Given the description of an element on the screen output the (x, y) to click on. 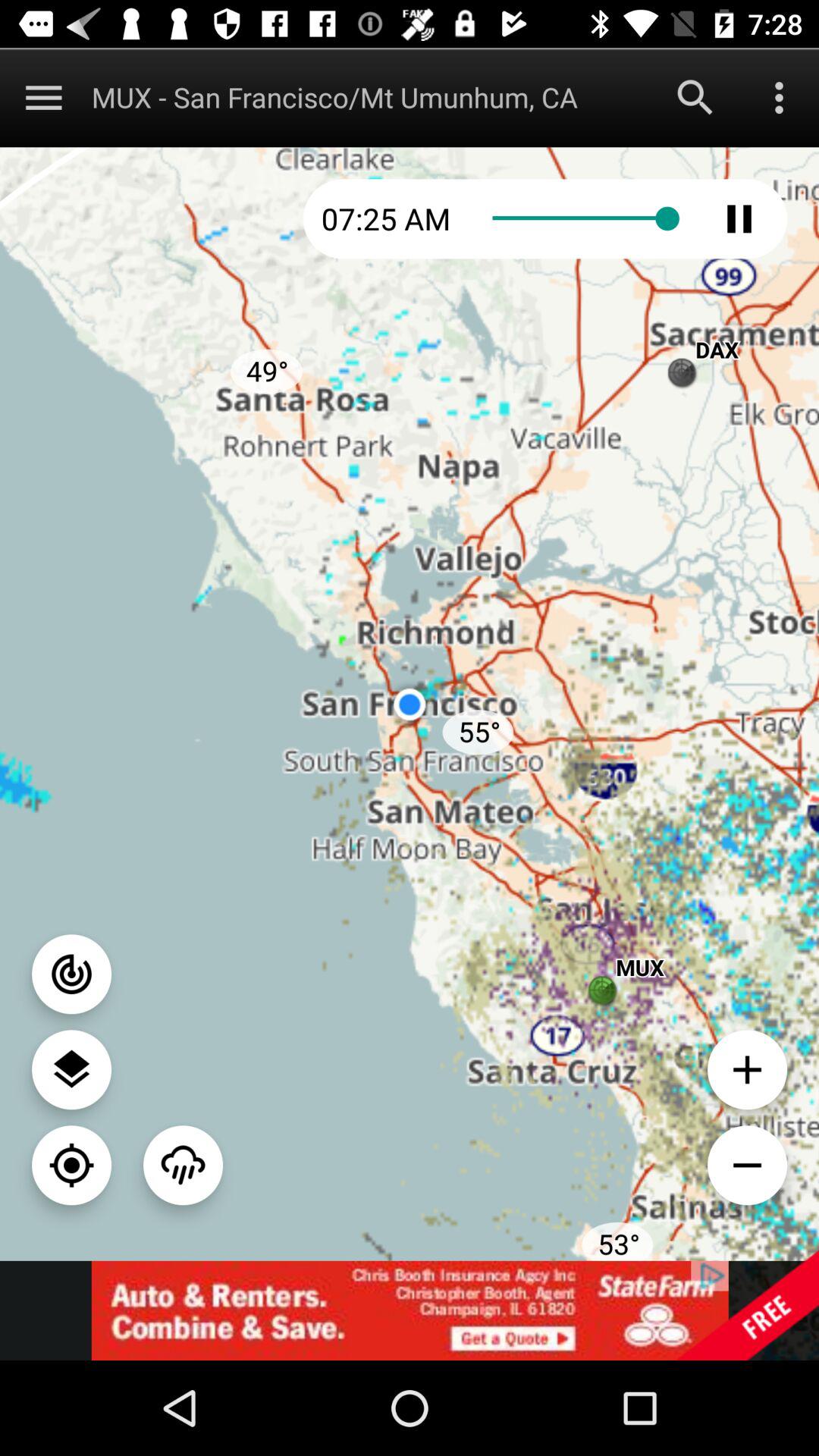
go to play (739, 218)
